Given the description of an element on the screen output the (x, y) to click on. 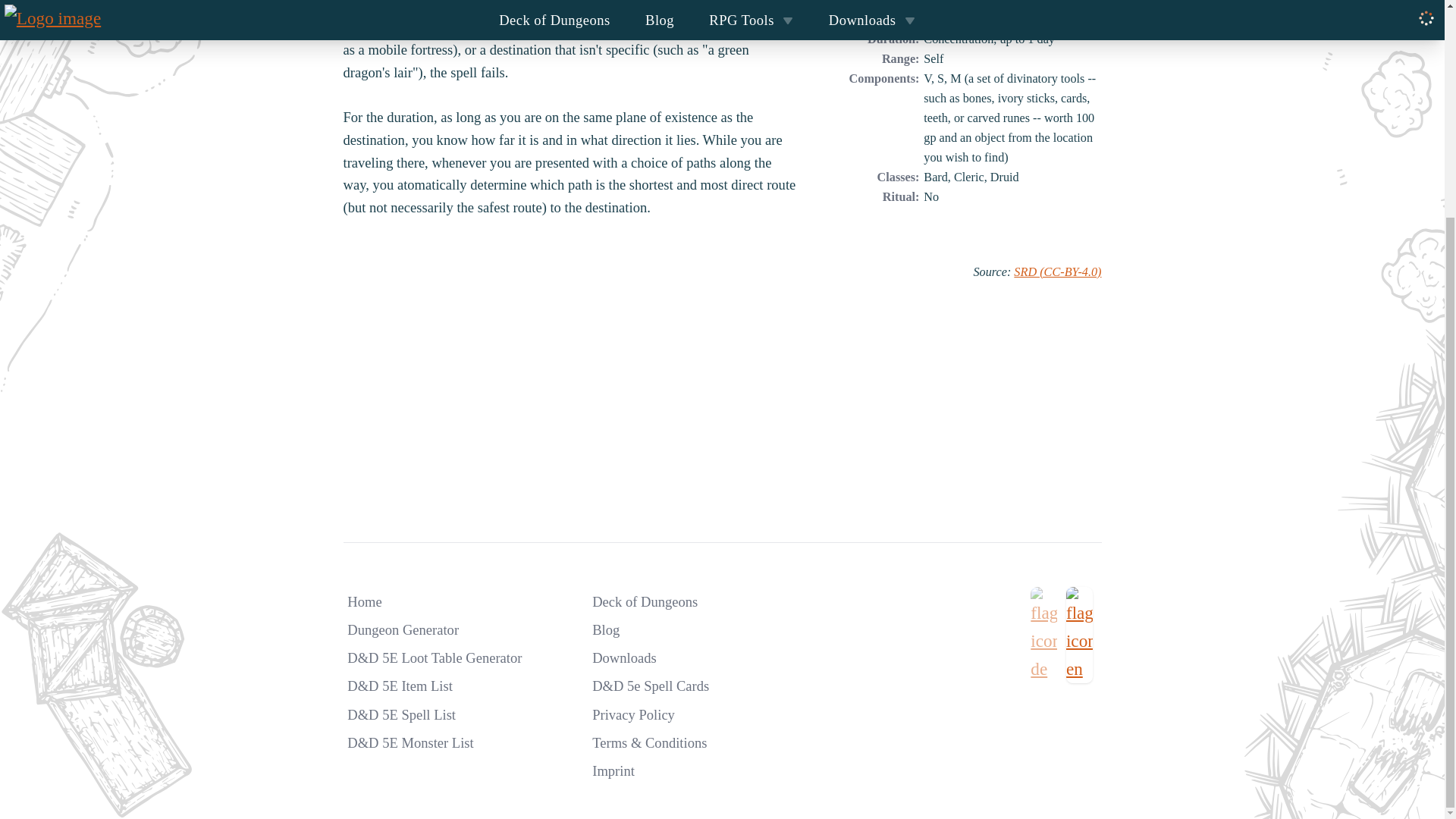
Imprint (613, 770)
Blog (606, 629)
Deck of Dungeons (644, 601)
Dungeon Generator (402, 629)
Downloads (624, 657)
Home (364, 601)
Privacy Policy (633, 714)
